Given the description of an element on the screen output the (x, y) to click on. 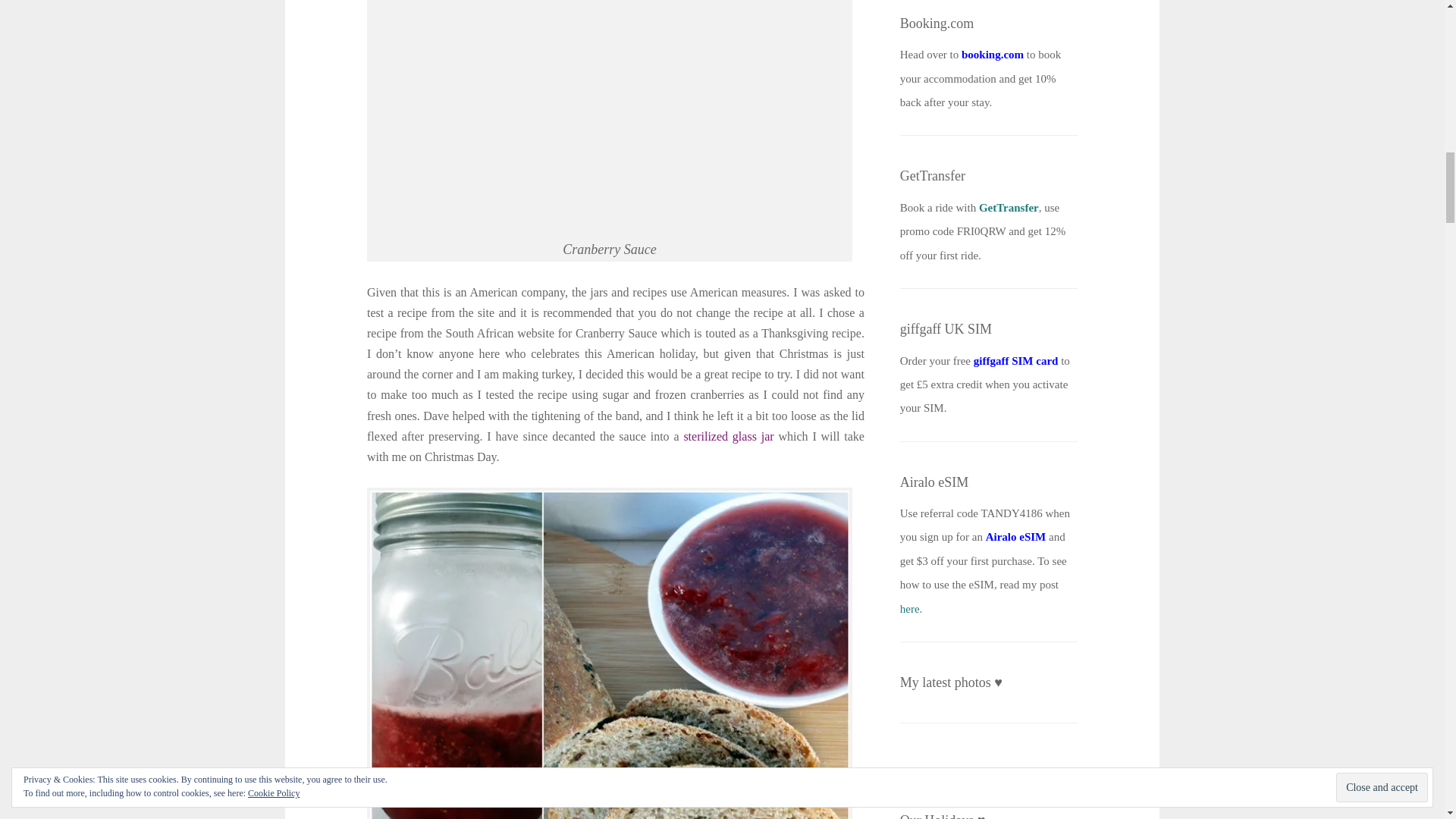
sterilized glass jar (727, 436)
